Given the description of an element on the screen output the (x, y) to click on. 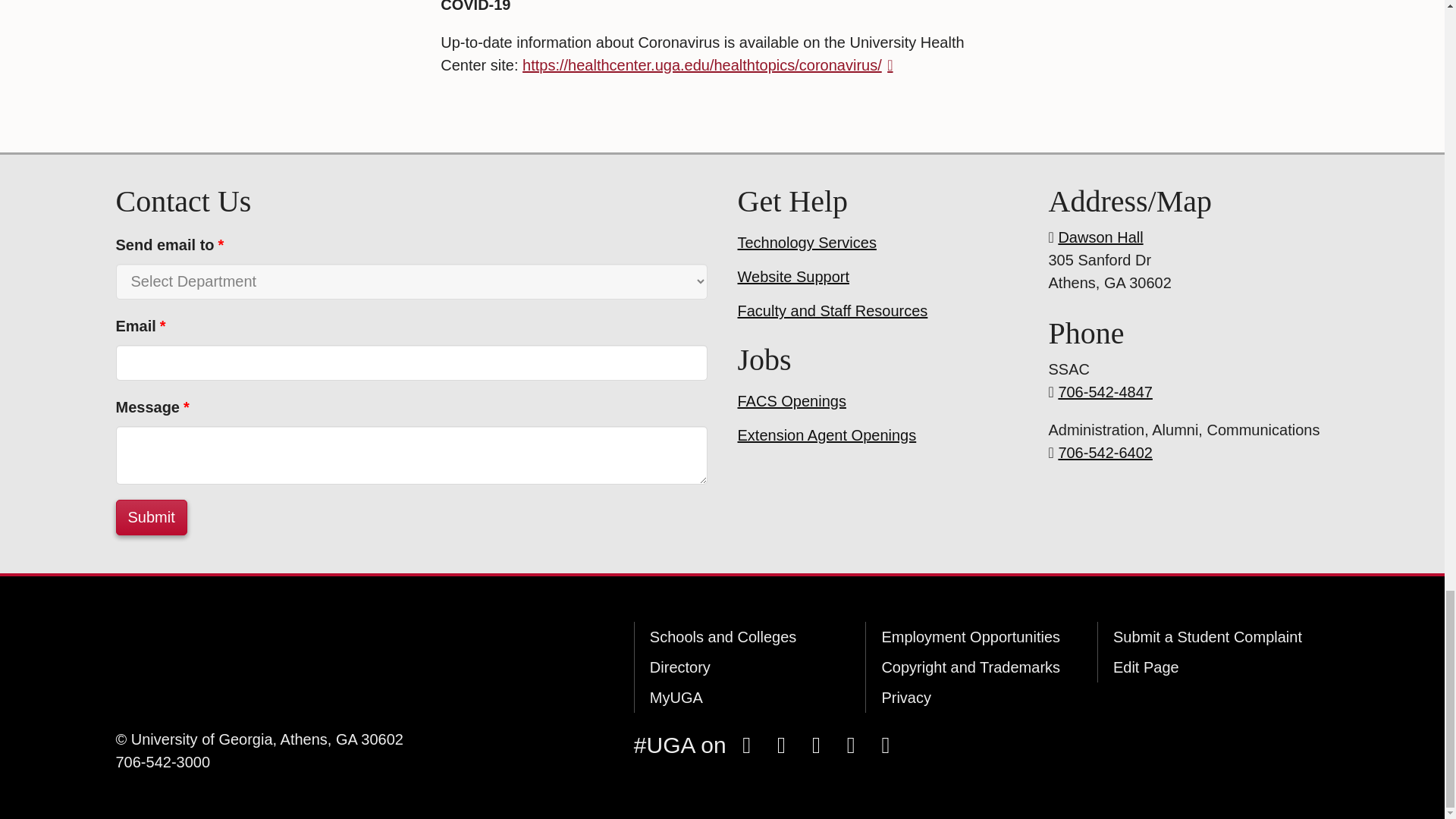
YouTube (849, 744)
LinkedIn (884, 744)
Snapchat (816, 744)
Facebook (746, 744)
Instagram (781, 744)
